Given the description of an element on the screen output the (x, y) to click on. 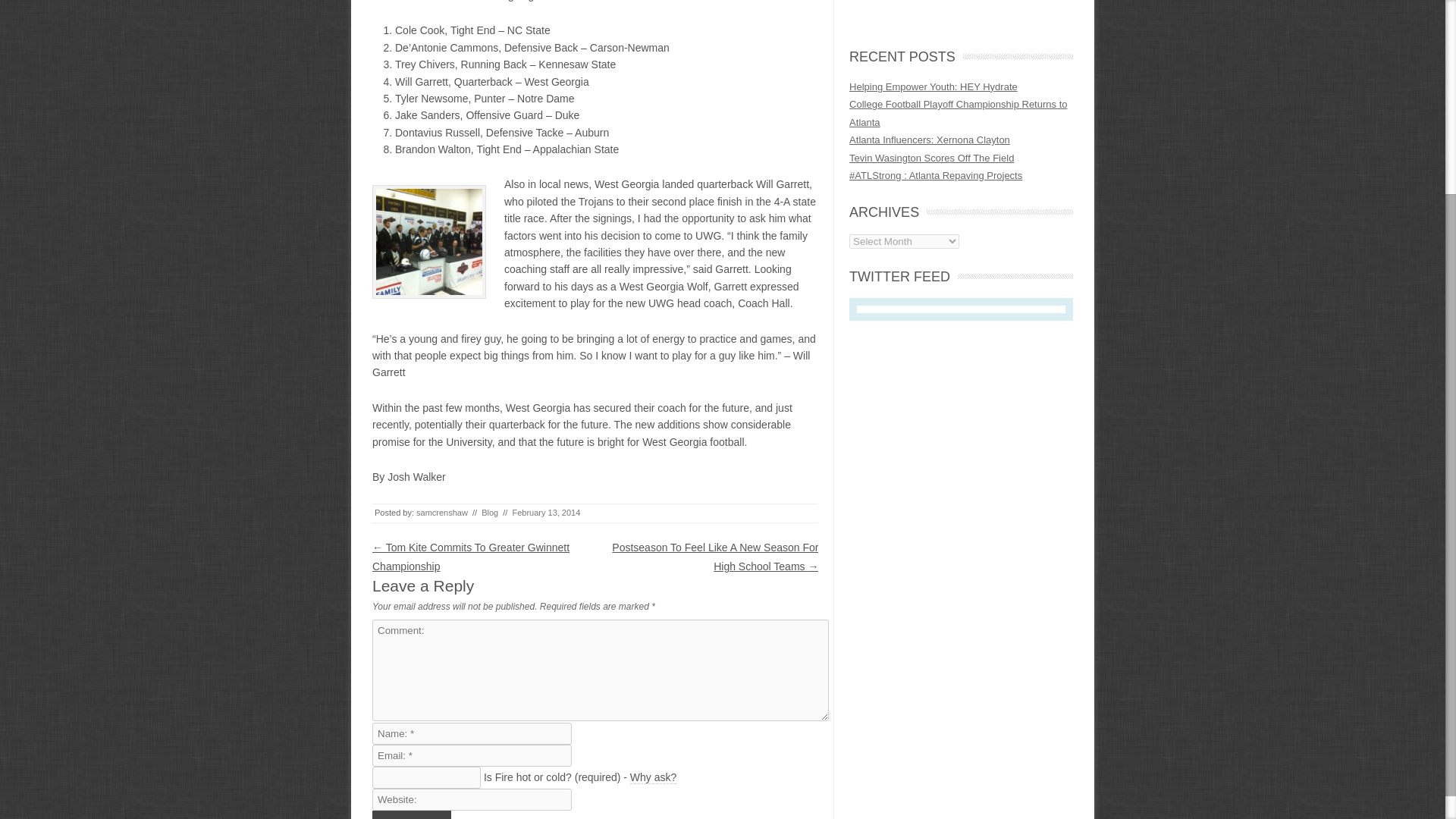
Helping Empower Youth: HEY Hydrate (932, 86)
3:54 am (545, 511)
College Football Playoff Championship Returns to Atlanta (957, 112)
Blog (489, 511)
Atlanta Influencers: Xernona Clayton (929, 139)
samcrenshaw (441, 511)
View all posts by samcrenshaw (441, 511)
Tevin Wasington Scores Off The Field (930, 157)
This confirms you are a human user! (653, 777)
February 13, 2014 (545, 511)
